Given the description of an element on the screen output the (x, y) to click on. 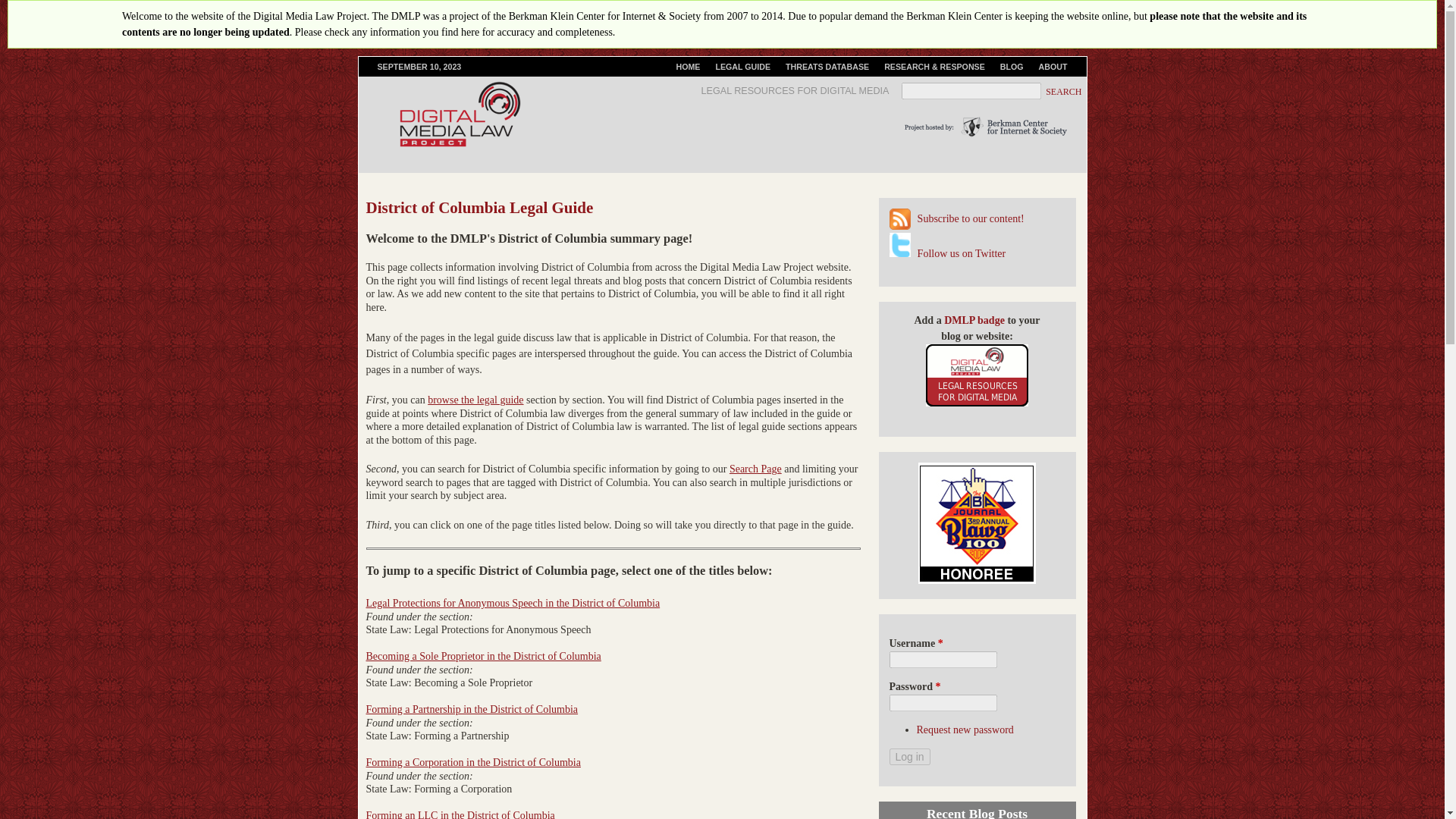
Becoming a Sole Proprietor in the District of Columbia (482, 655)
LEGAL GUIDE (742, 66)
HOME (687, 66)
Log in (909, 756)
This field is required. (938, 686)
ABOUT (1052, 66)
Forming a Partnership in the District of Columbia (471, 708)
Search Page (755, 469)
BLOG (1011, 66)
This field is required. (940, 643)
Digital Media Law Project Home Page (687, 66)
Search (1064, 91)
Enter the terms you wish to search for. (971, 90)
